Given the description of an element on the screen output the (x, y) to click on. 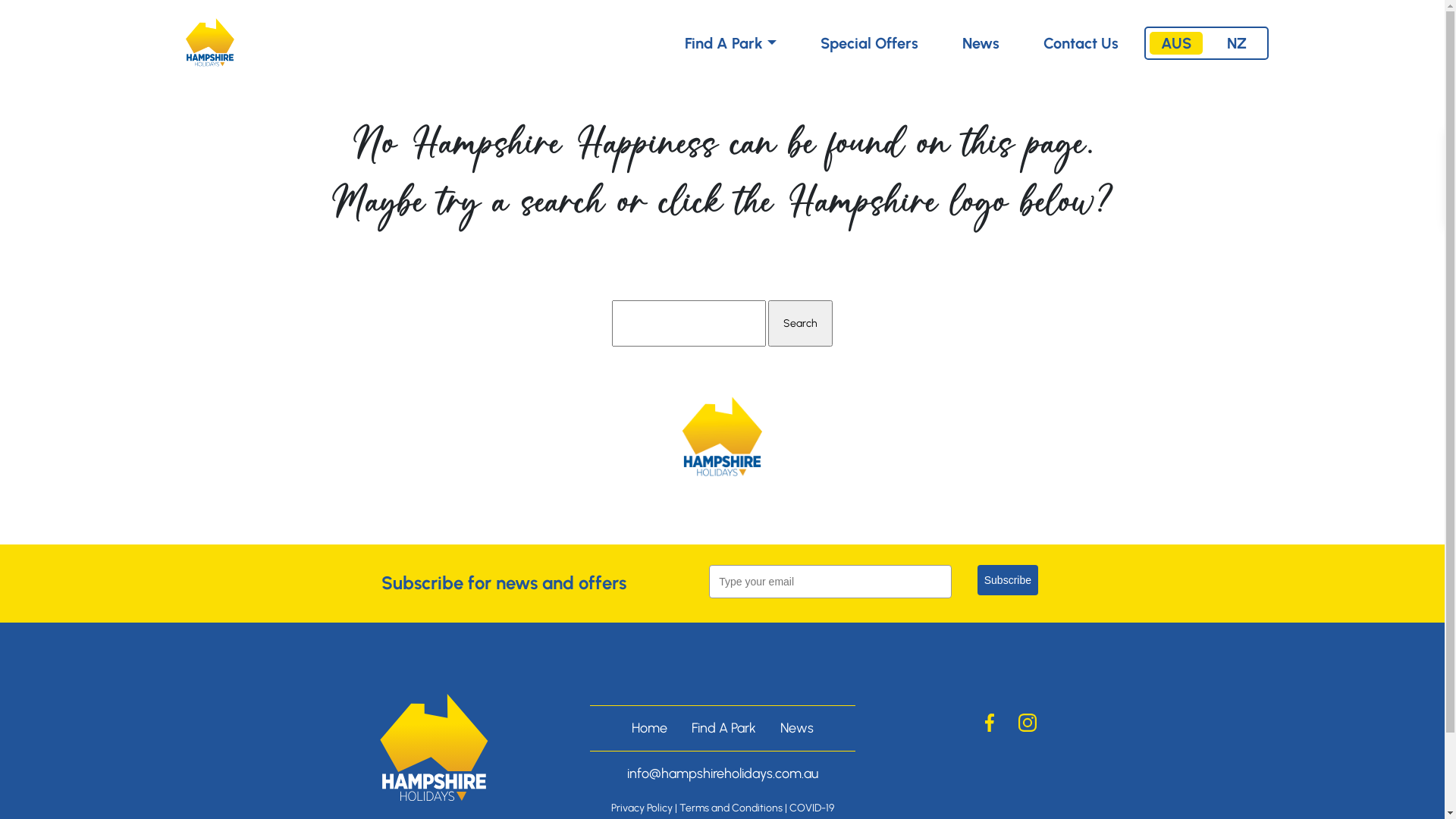
News Element type: text (795, 727)
News Element type: text (979, 42)
Home Element type: text (648, 727)
Find A Park Element type: text (729, 42)
Subscribe Element type: text (1007, 579)
Find A Park Element type: text (723, 727)
info@hampshireholidays.com.au Element type: text (721, 773)
Search Element type: text (800, 323)
AUS
NZ Element type: text (1206, 42)
Special Offers Element type: text (869, 42)
Terms and Conditions Element type: text (730, 807)
| COVID-19 Element type: text (808, 807)
Contact Us Element type: text (1080, 42)
Privacy Policy Element type: text (641, 807)
